Given the description of an element on the screen output the (x, y) to click on. 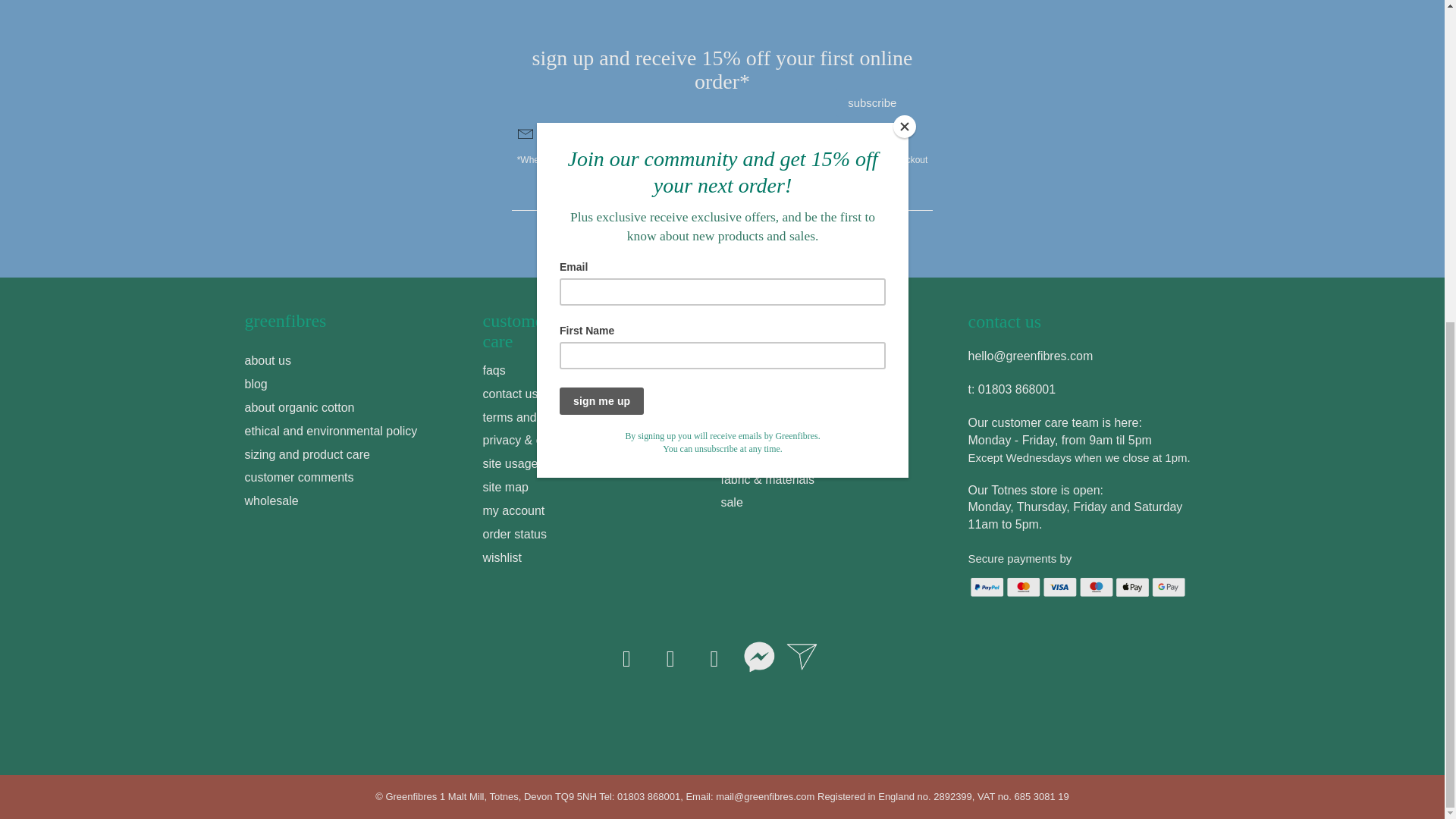
Subscribe (871, 102)
